Given the description of an element on the screen output the (x, y) to click on. 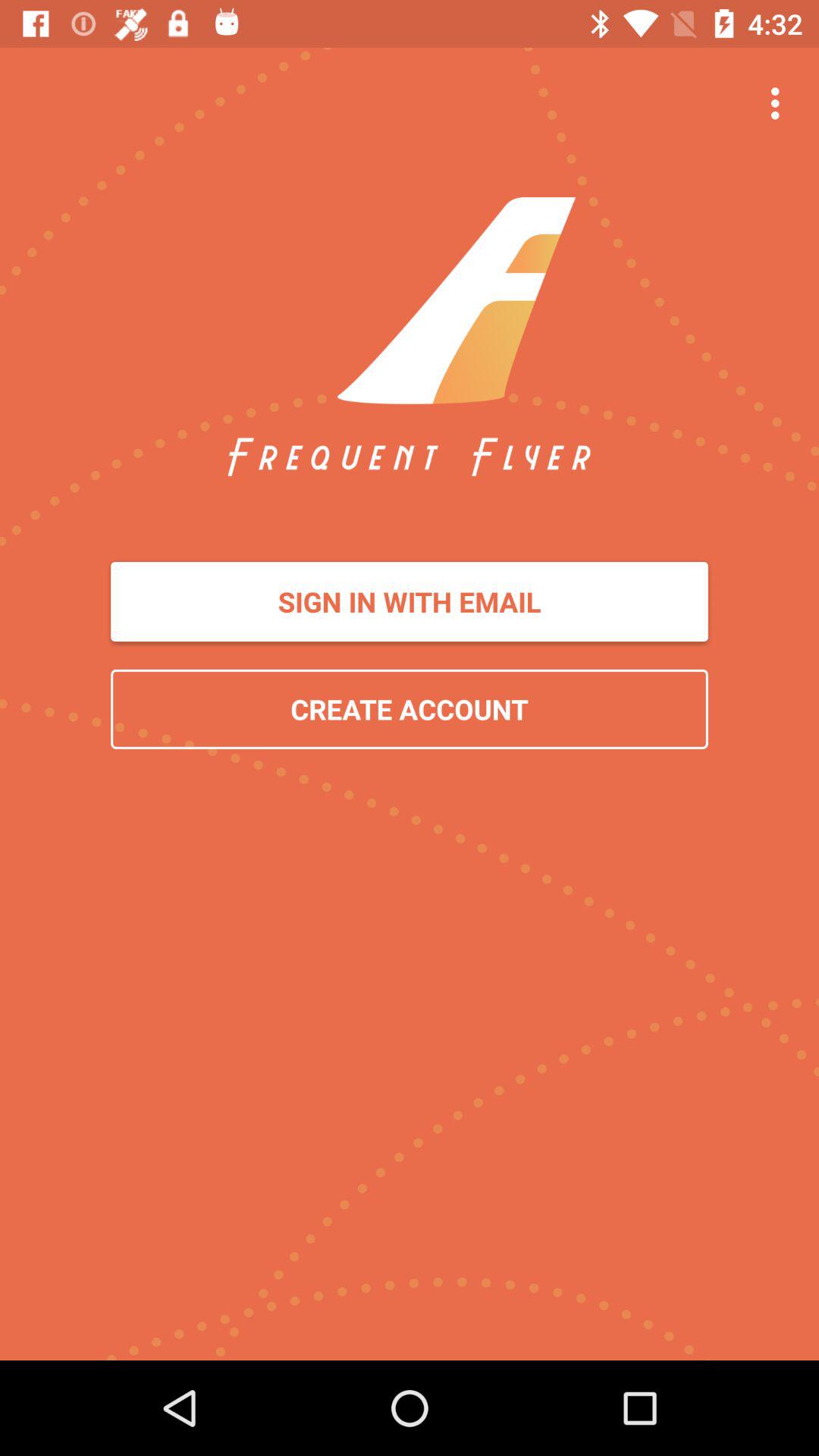
launch sign in with (409, 601)
